Given the description of an element on the screen output the (x, y) to click on. 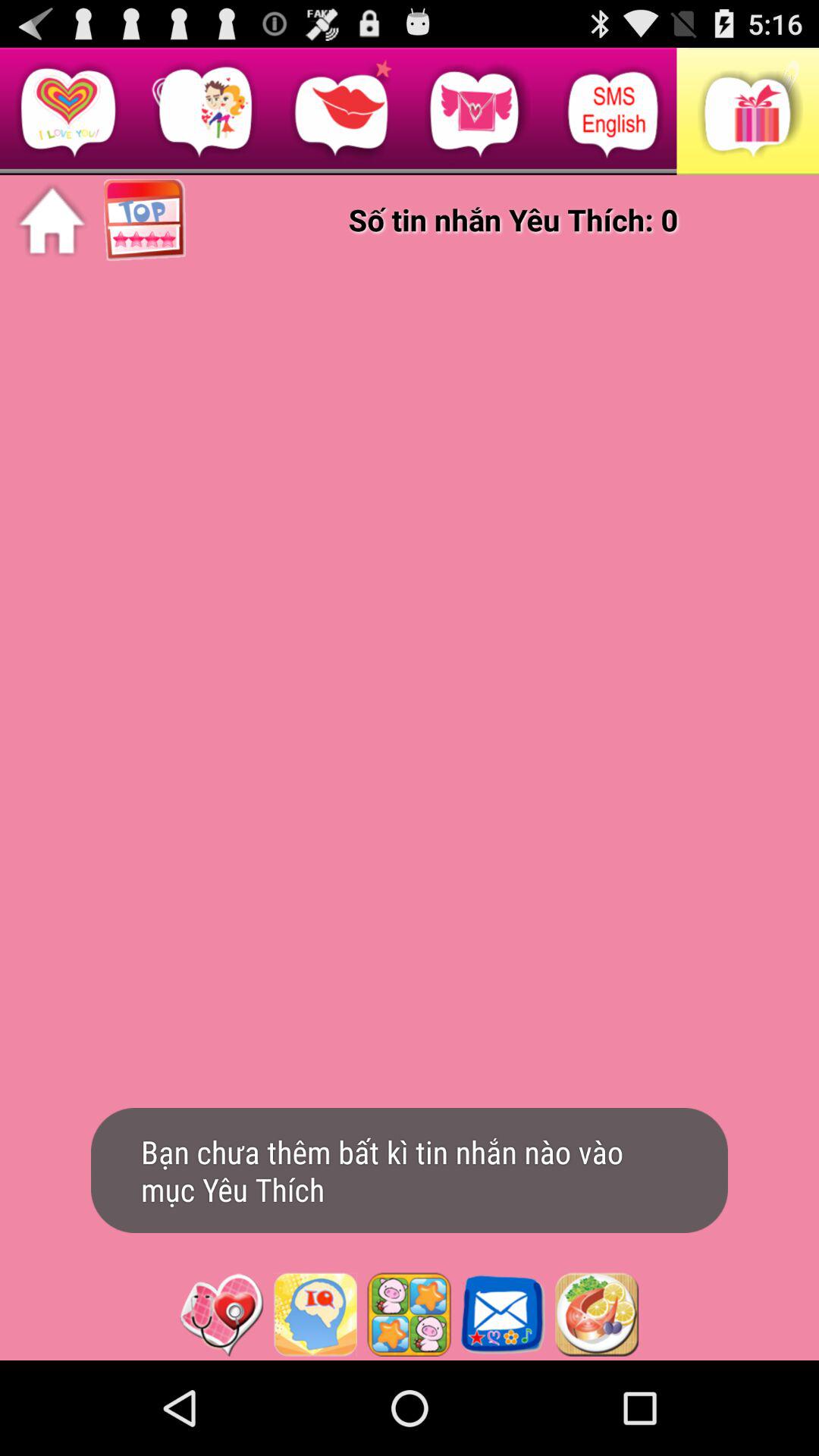
see messages (502, 1314)
